Given the description of an element on the screen output the (x, y) to click on. 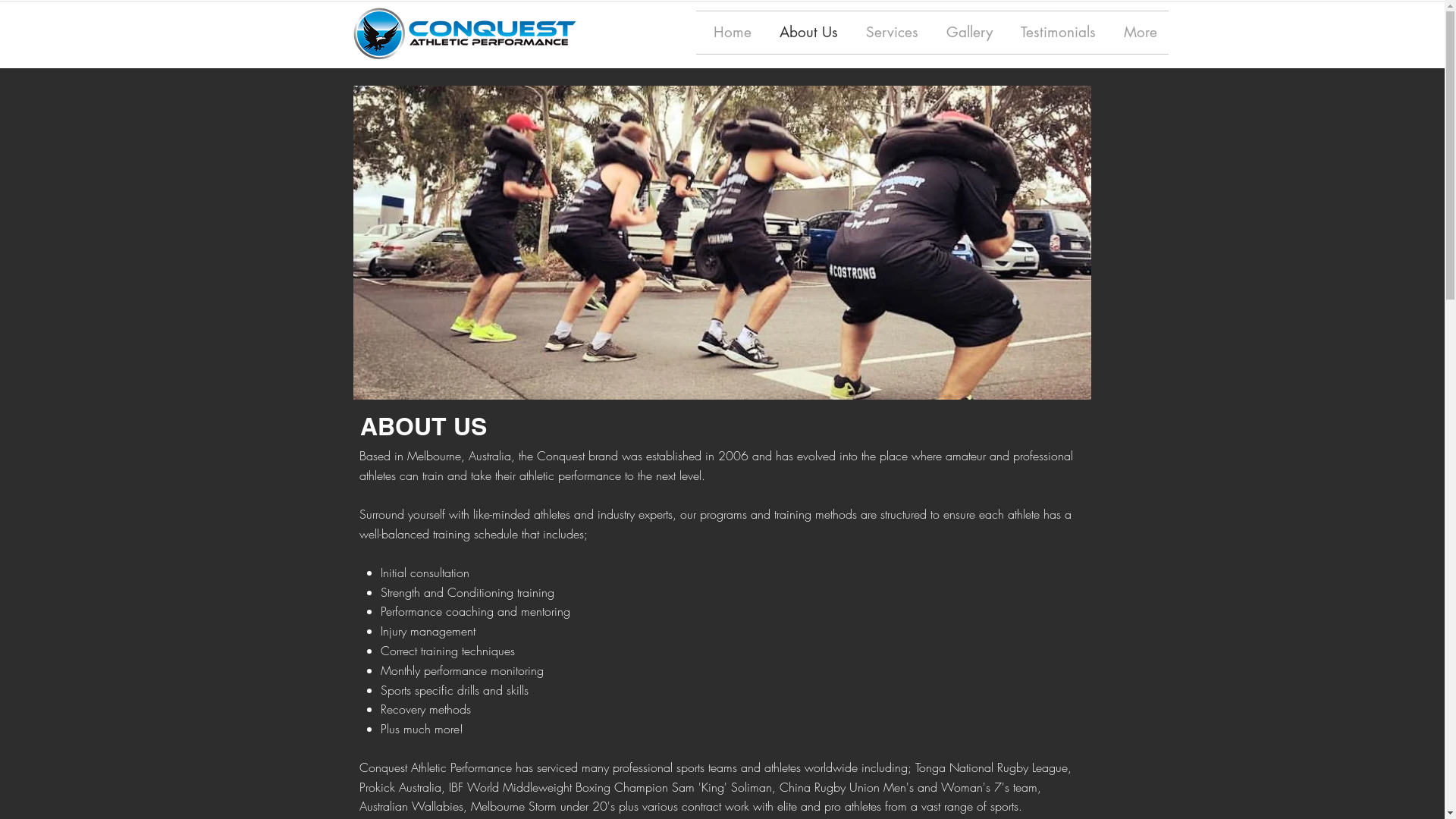
Testimonials Element type: text (1055, 32)
Services Element type: text (889, 32)
Home Element type: text (729, 32)
Gallery Element type: text (966, 32)
12670371_952424084846674_3533523381396112932_n_edited.jpg Element type: hover (722, 242)
Conquest-AP---Logo.png Element type: hover (463, 33)
About Us Element type: text (805, 32)
